Given the description of an element on the screen output the (x, y) to click on. 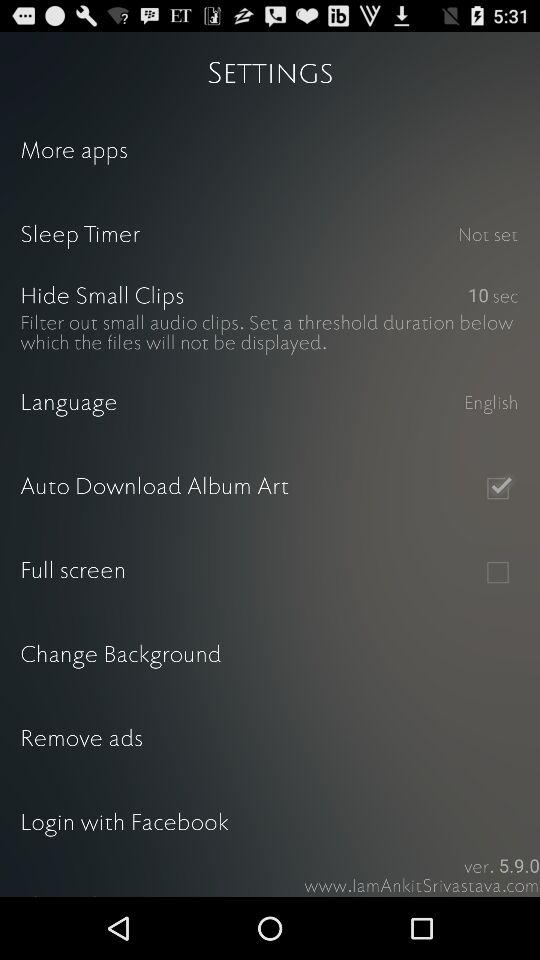
open item next to the full screen icon (497, 572)
